Given the description of an element on the screen output the (x, y) to click on. 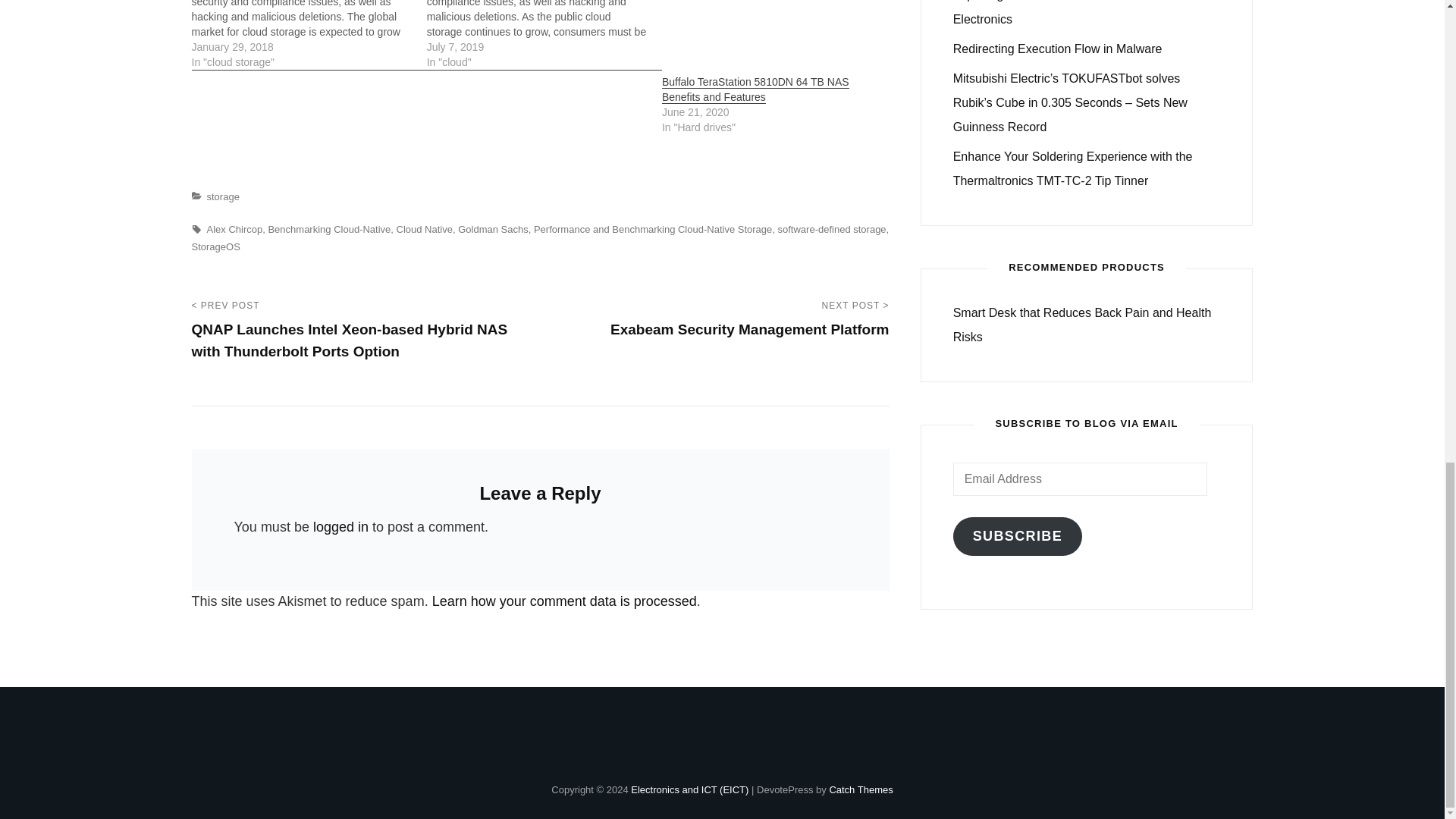
Buffalo TeraStation 5810DN 64 TB NAS Benefits and Features (755, 89)
Performance and Benchmarking Cloud-Native Storage (652, 229)
Buffalo TeraStation 5810DN 64 TB NAS Benefits and Features (755, 89)
StorageOS (215, 246)
storage (222, 196)
Data Loss Risks in Cloud Storage (308, 34)
Alex Chircop (234, 229)
Cloud Native (424, 229)
Benchmarking Cloud-Native (328, 229)
software-defined storage (831, 229)
Goldman Sachs (493, 229)
Buffalo TeraStation 5810DN 64 TB NAS Benefits and Features (772, 37)
Data loss risks in cloud storage (544, 34)
